Given the description of an element on the screen output the (x, y) to click on. 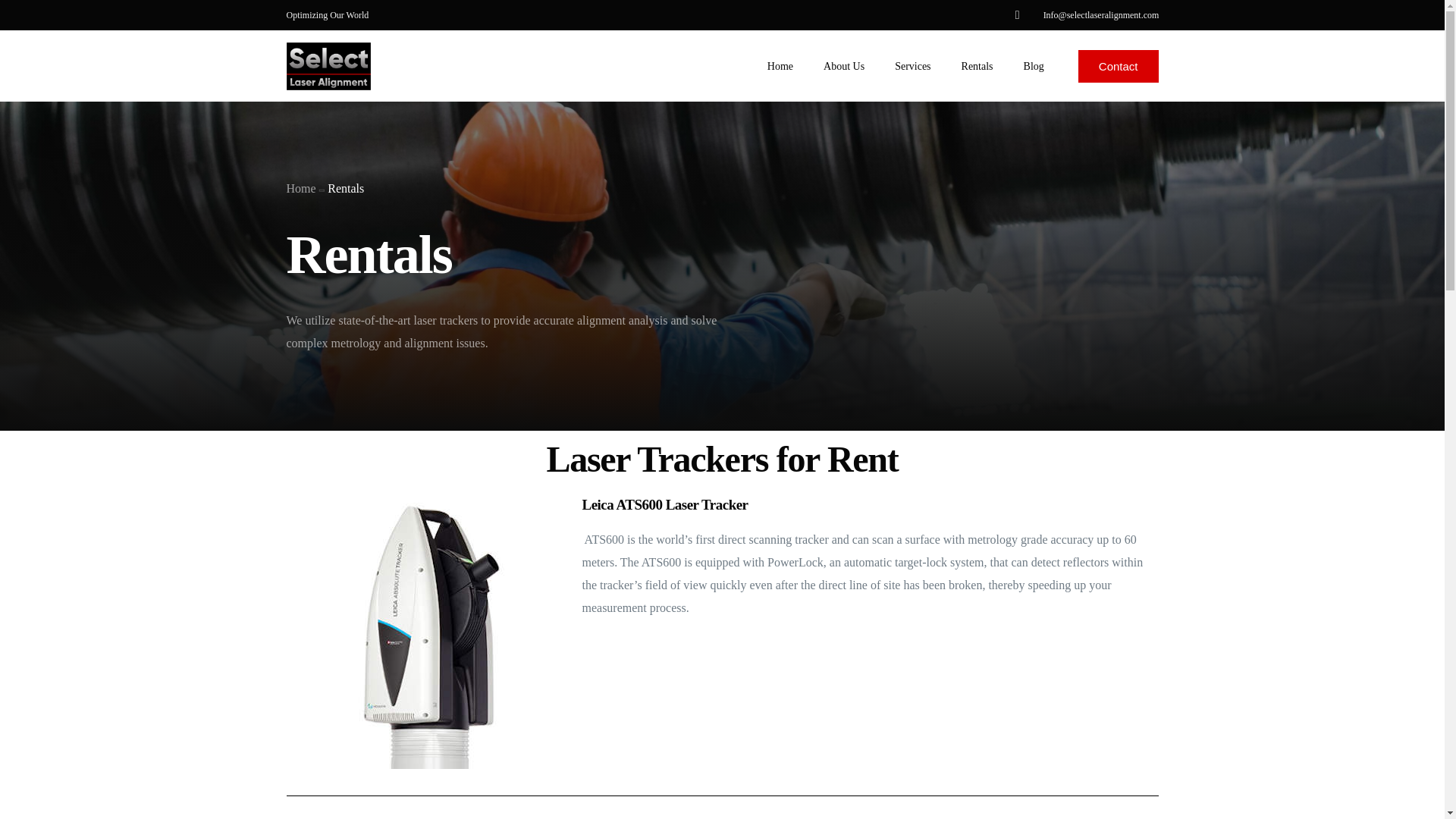
Home (300, 208)
Services (911, 65)
About Us (843, 65)
Contact (1118, 65)
